Given the description of an element on the screen output the (x, y) to click on. 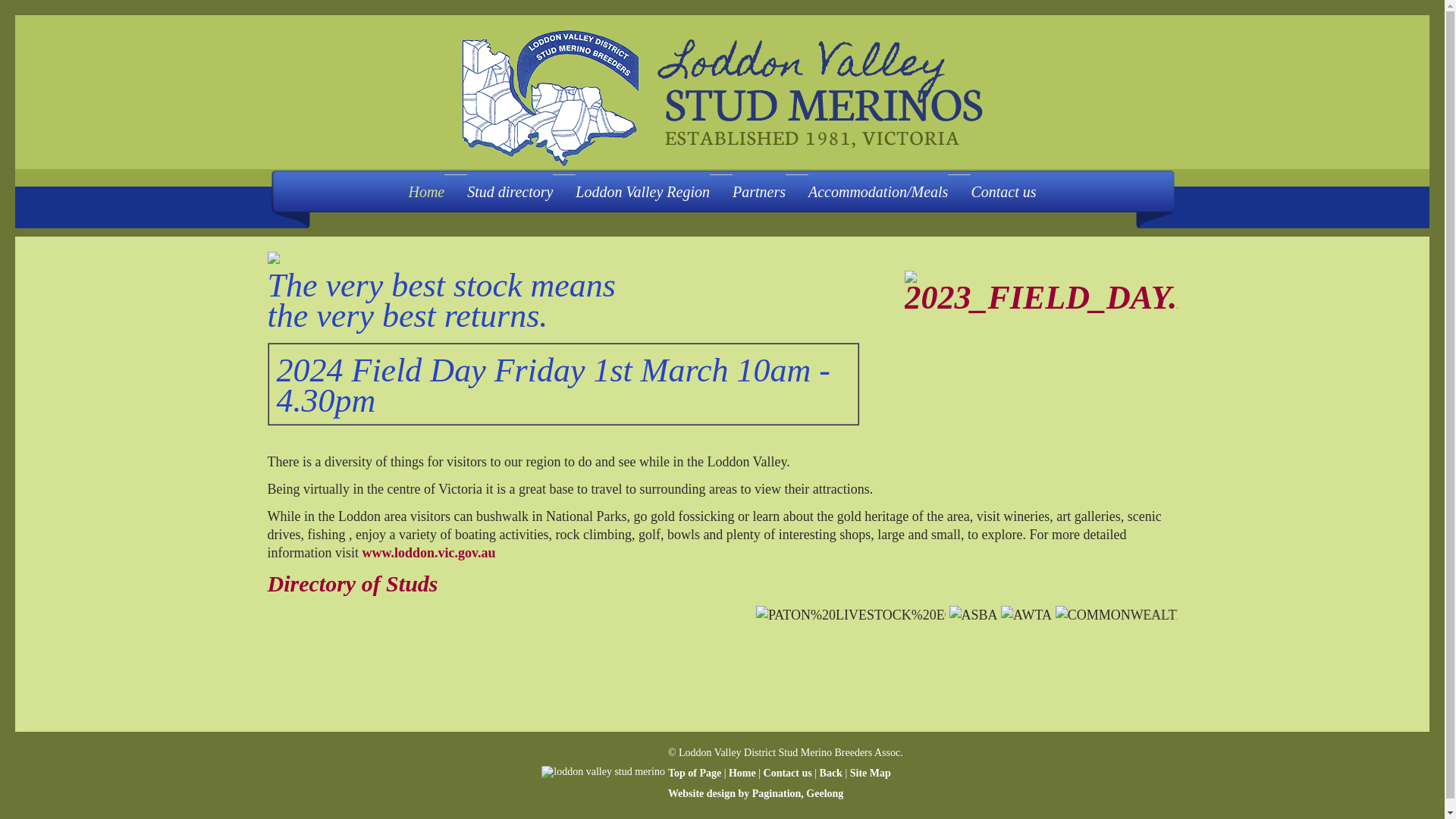
Top of Page Element type: text (694, 772)
elders Element type: hover (1330, 614)
Directory of Studs Element type: text (351, 583)
ASBA Element type: hover (986, 614)
Nutrien Element type: hover (1383, 614)
COMMONWEALTH-BANK-OF-AUSTRALIA.JPG Element type: hover (1160, 614)
www.loddon.vic.gov.au Element type: text (428, 552)
Site Map Element type: text (870, 772)
AWTA Element type: hover (1038, 614)
Website design by Pagination, Geelong Element type: text (755, 793)
Elanco Element type: hover (1282, 614)
Home Element type: text (742, 772)
PATON%20LIVESTOCK%20EQUIPMENT Element type: hover (865, 614)
2023_FIELD_DAY.PNG Element type: hover (1039, 291)
Contact us Element type: text (787, 772)
Back Element type: text (830, 772)
